Given the description of an element on the screen output the (x, y) to click on. 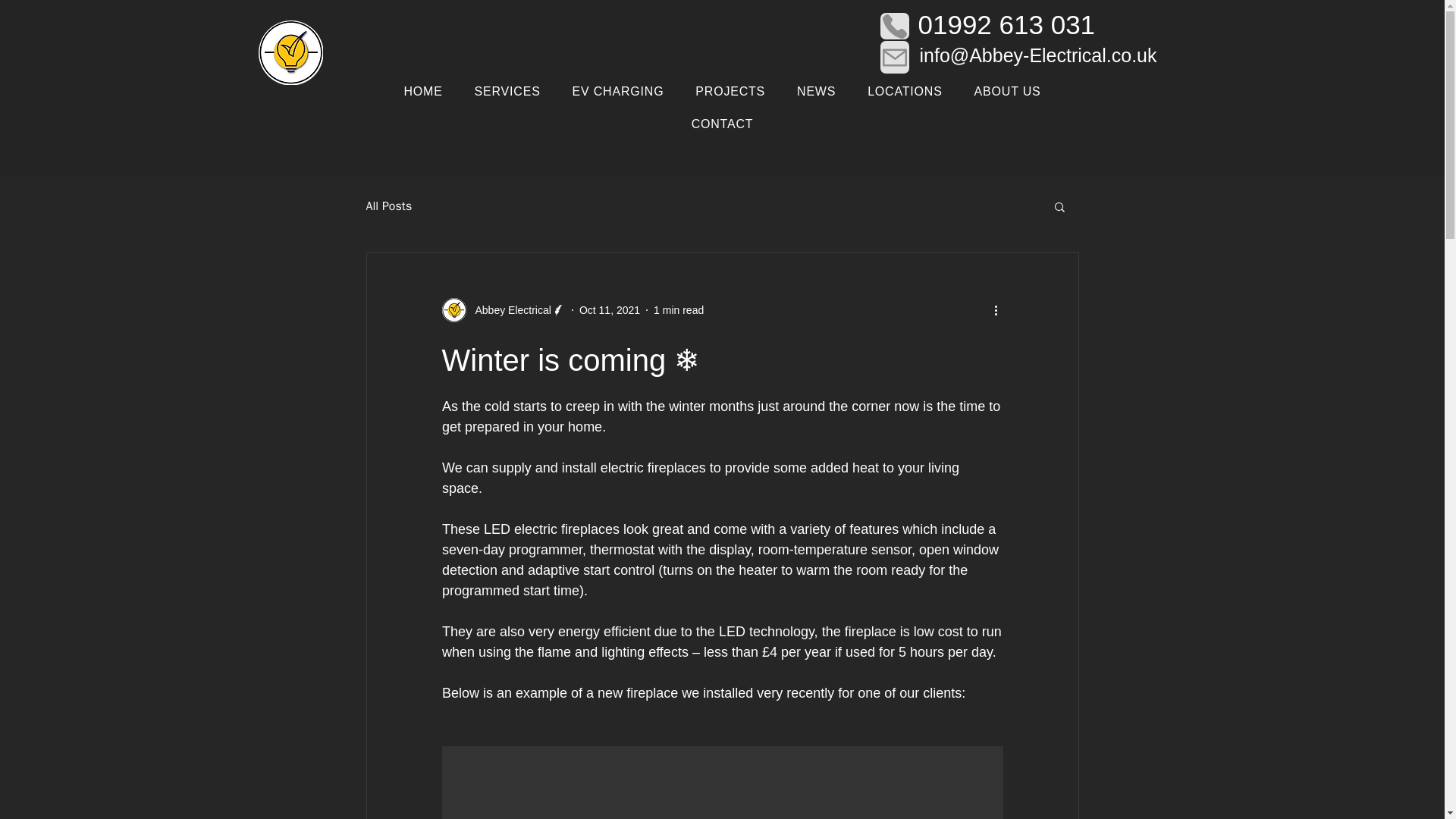
HOME (423, 91)
All Posts (388, 206)
CONTACT (722, 124)
NEWS (816, 91)
Abbey Electrical (507, 310)
SERVICES (507, 91)
01992 613 031 (1005, 24)
Abbey Electrical (502, 310)
Oct 11, 2021 (609, 309)
1 min read (678, 309)
LOCATIONS (904, 91)
PROJECTS (729, 91)
